Given the description of an element on the screen output the (x, y) to click on. 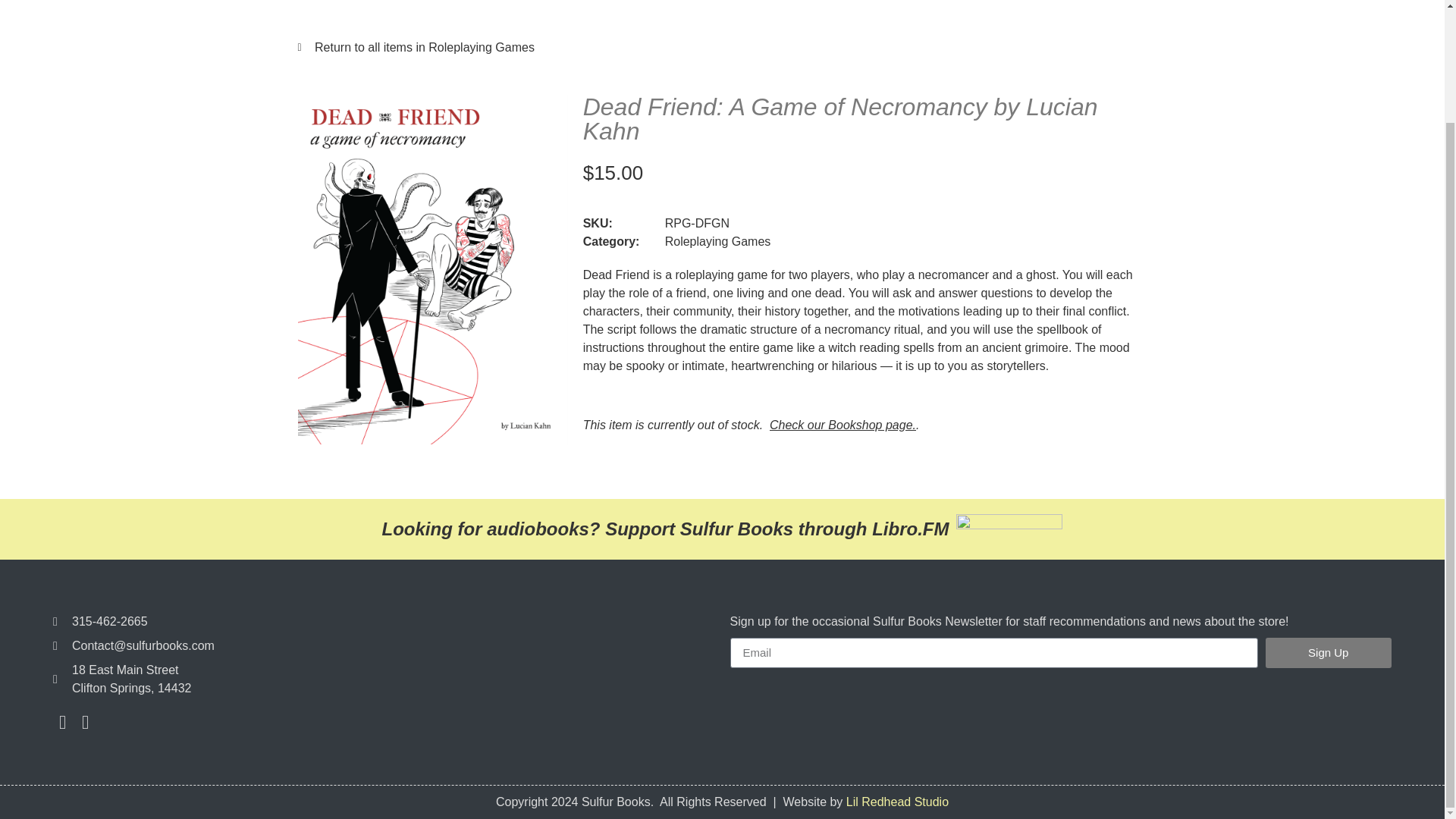
Sign Up (1328, 653)
Return to all items in Roleplaying Games (722, 47)
Lil Redhead Studio (897, 801)
Check our Bookshop page. (842, 424)
Roleplaying Games (718, 241)
